Given the description of an element on the screen output the (x, y) to click on. 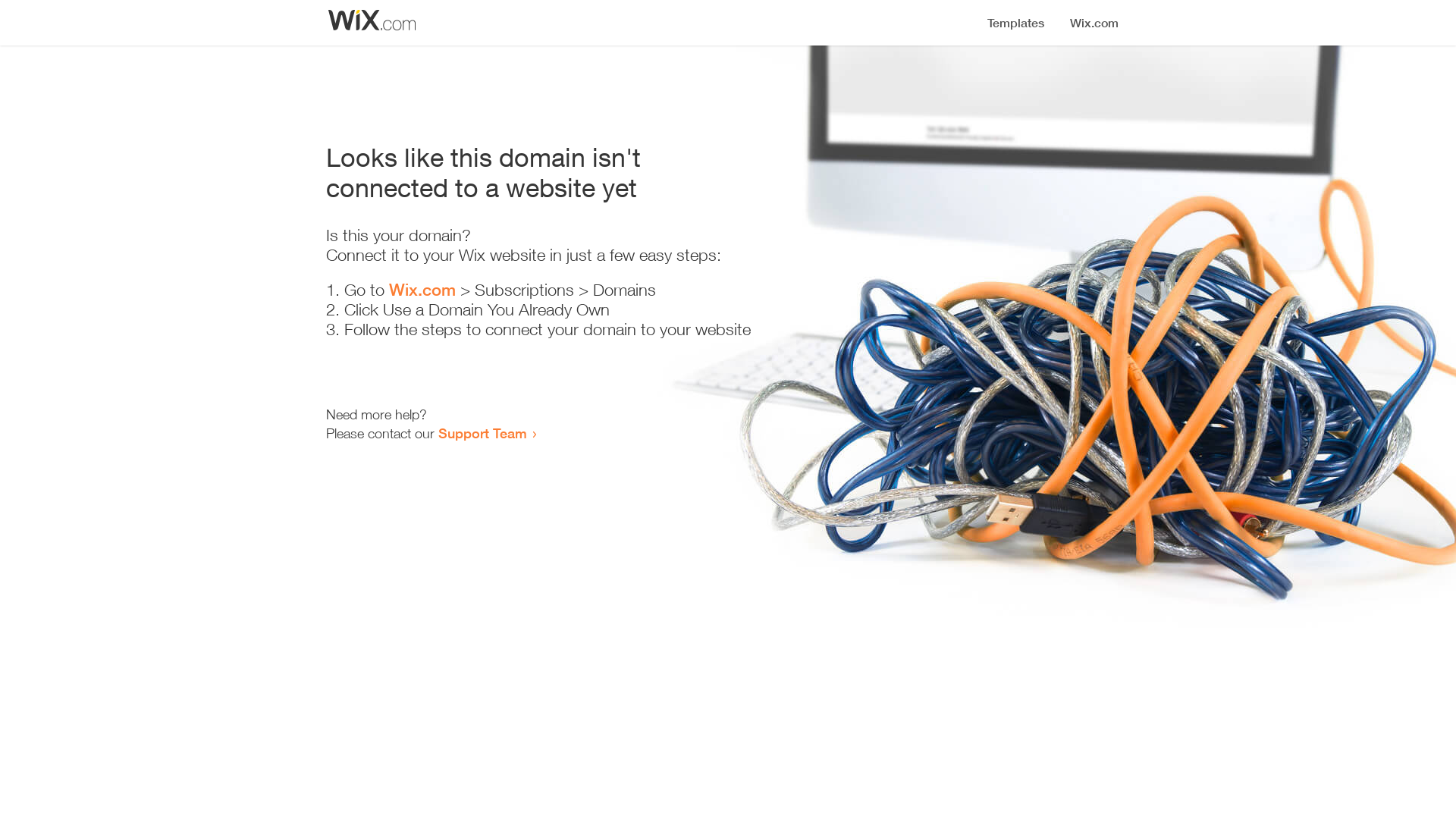
Wix.com Element type: text (422, 289)
Support Team Element type: text (482, 432)
